Given the description of an element on the screen output the (x, y) to click on. 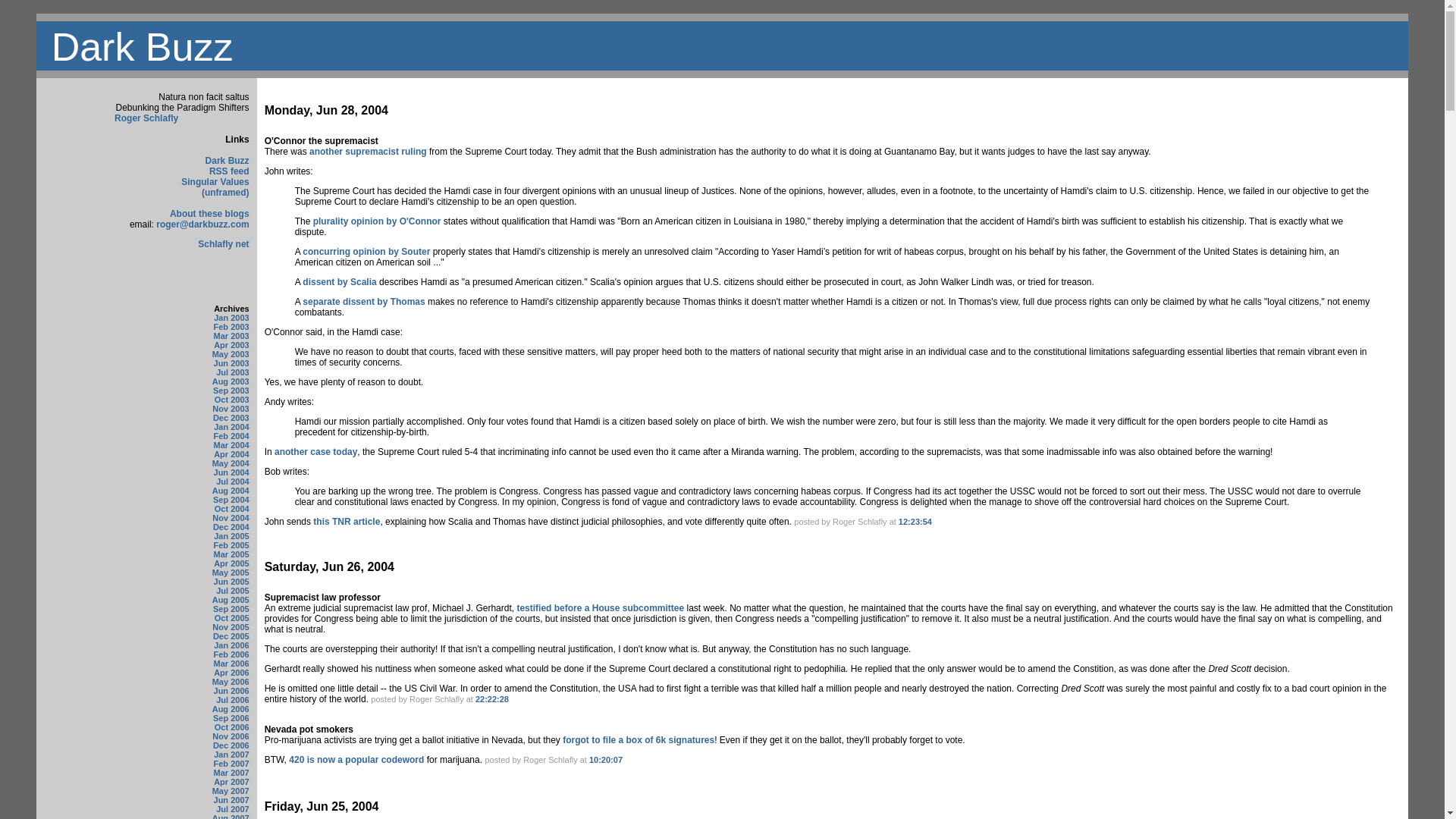
Dec 2003 (230, 417)
Aug 2003 (230, 380)
Feb 2004 (231, 435)
May 2005 (230, 572)
Mar 2003 (231, 335)
Roger Schlafly (146, 118)
Jul 2003 (231, 371)
Aug 2005 (230, 599)
Apr 2004 (231, 453)
Feb 2003 (231, 326)
